Given the description of an element on the screen output the (x, y) to click on. 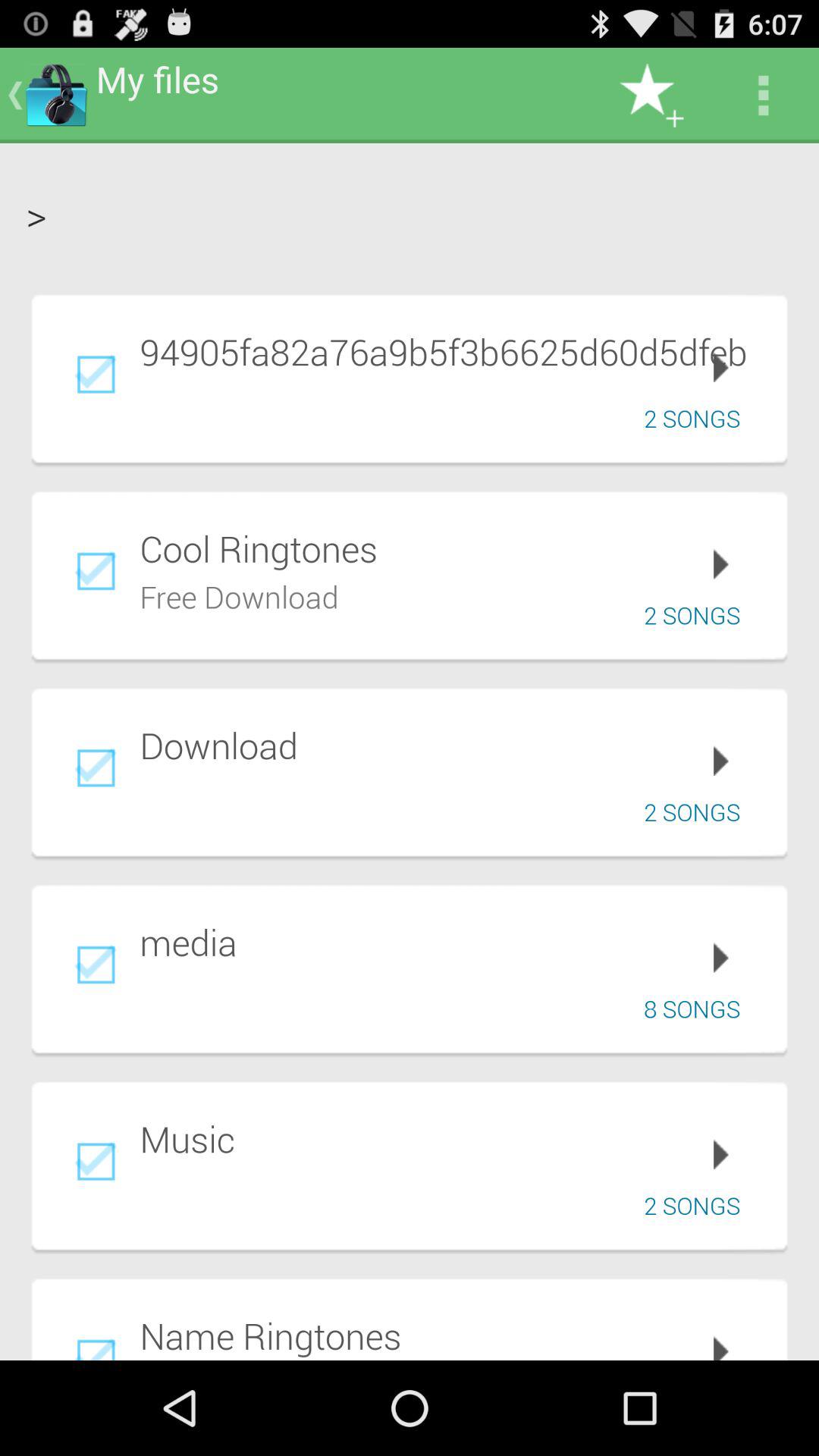
scroll until 94905fa82a76a9b5f3b6625d60d5dfeb item (452, 351)
